Given the description of an element on the screen output the (x, y) to click on. 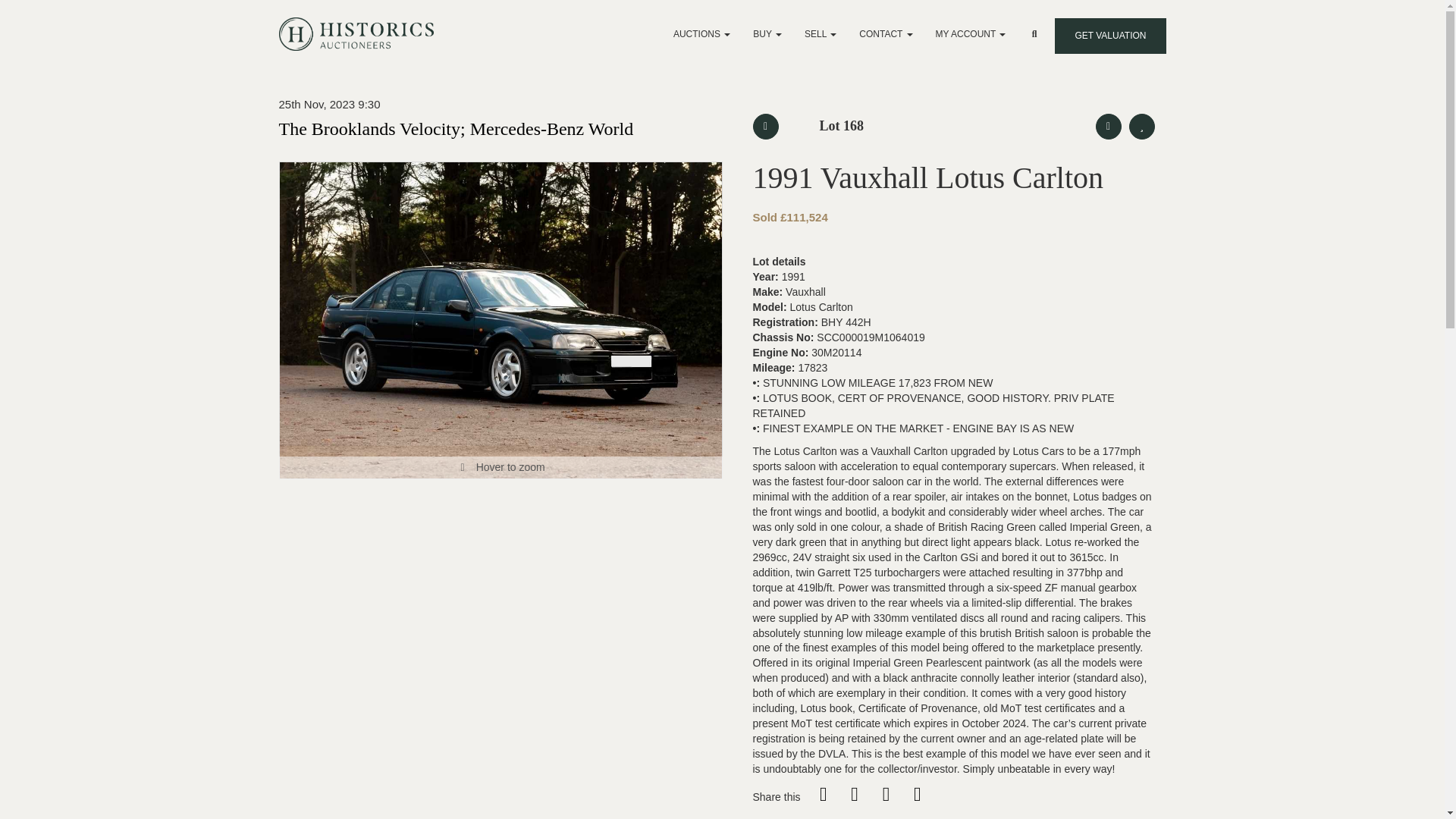
AUCTIONS (701, 33)
GET VALUATION (1110, 36)
BUY (767, 33)
The Brooklands Velocity; Mercedes-Benz World (456, 127)
SELL (820, 33)
MY ACCOUNT (970, 33)
CONTACT (885, 33)
